Given the description of an element on the screen output the (x, y) to click on. 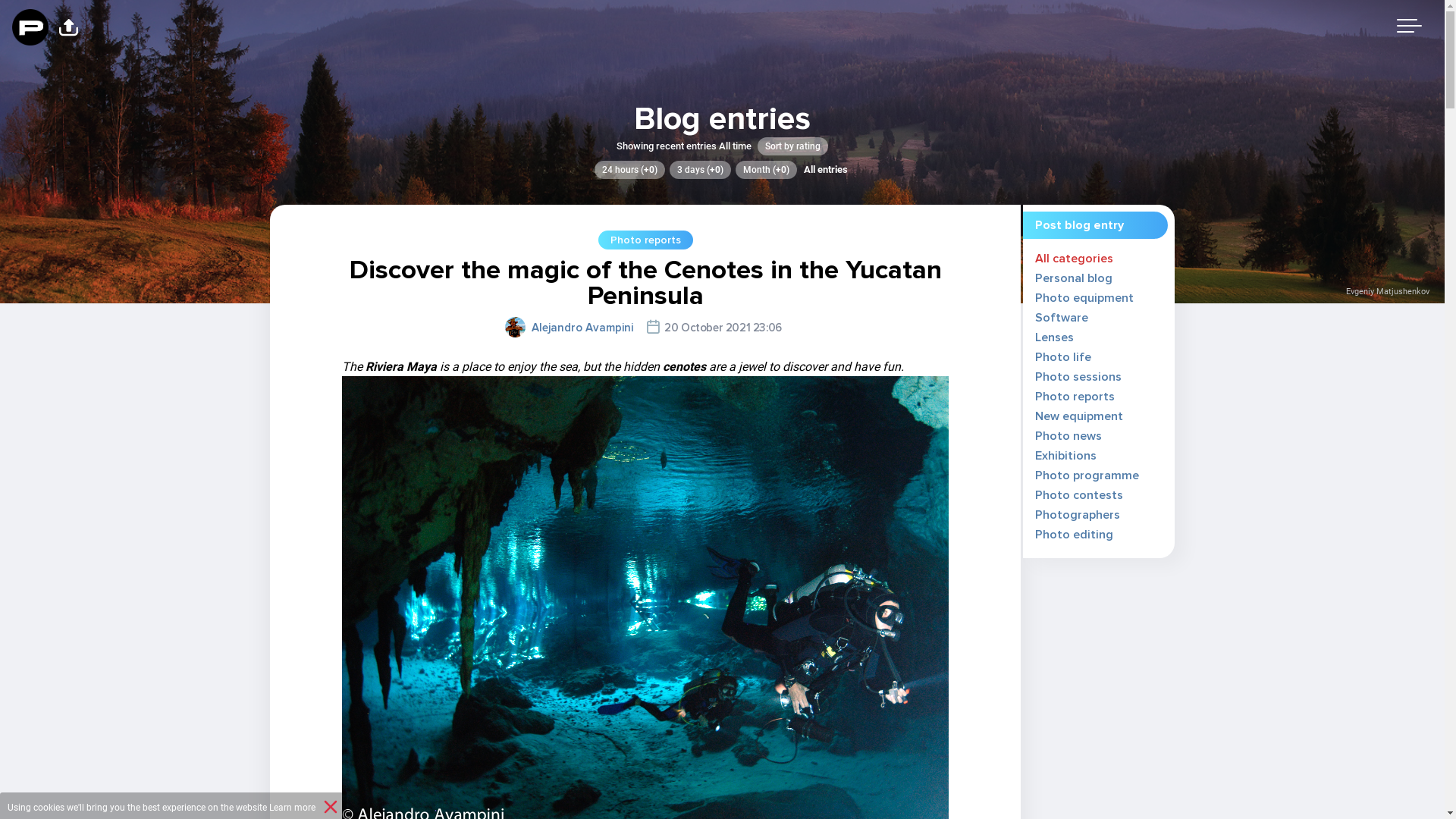
Post blog entry Element type: text (1079, 224)
Photo programme Element type: text (1087, 475)
Photo reports Element type: text (644, 239)
Photographers Element type: text (1077, 514)
Sort by rating Element type: text (792, 146)
All categories Element type: text (1074, 258)
Discover the magic of the Cenotes in the Yucatan Peninsula Element type: text (644, 282)
3 days (+0) Element type: text (700, 169)
Lenses Element type: text (1054, 337)
Photo life Element type: text (1063, 356)
Photo equipment Element type: text (1084, 297)
Post blog entry Element type: text (1094, 224)
New equipment Element type: text (1079, 415)
Month (+0) Element type: text (766, 169)
Close Element type: hover (330, 807)
Evgeniy Matjushenkov Element type: text (1387, 291)
Photo editing Element type: text (1074, 534)
Personal blog Element type: text (1073, 277)
Learn more Element type: text (292, 807)
Photo news Element type: text (1068, 435)
Alejandro Avampini Element type: text (582, 327)
Software Element type: text (1061, 317)
Exhibitions Element type: text (1065, 455)
Photo sessions Element type: text (1078, 376)
24 hours (+0) Element type: text (629, 169)
Photo contests Element type: text (1079, 494)
Photo reports Element type: text (1074, 396)
